Given the description of an element on the screen output the (x, y) to click on. 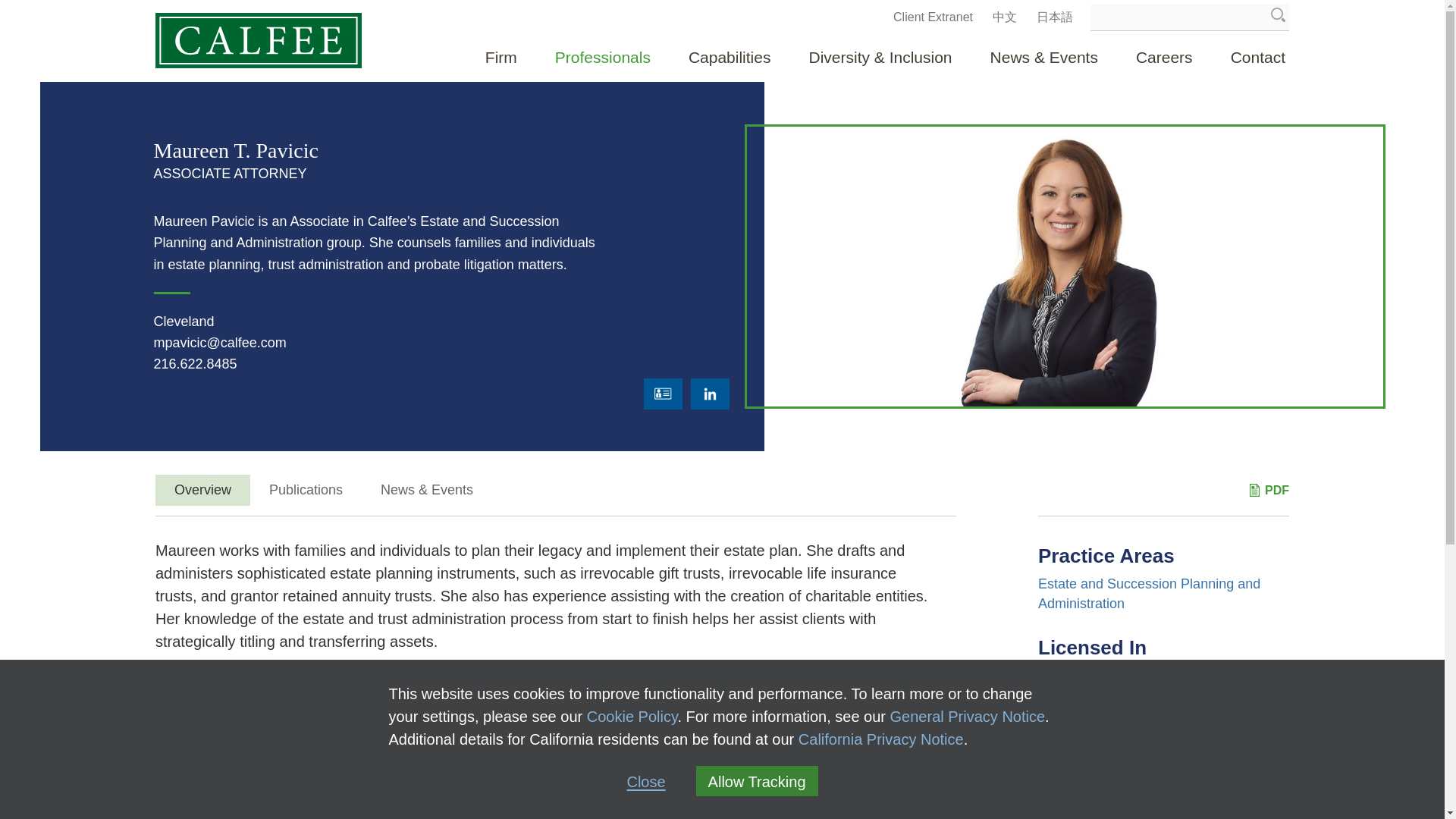
General Privacy Notice (967, 716)
California Privacy Notice (880, 739)
Mandarin (1004, 16)
Allow Tracking (756, 780)
LinkedIn (709, 393)
216.622.8485 (193, 363)
Estate and Succession Planning and Administration (1149, 593)
Cookie Policy (632, 716)
Cookie Policy (632, 716)
Cleveland (183, 321)
